Given the description of an element on the screen output the (x, y) to click on. 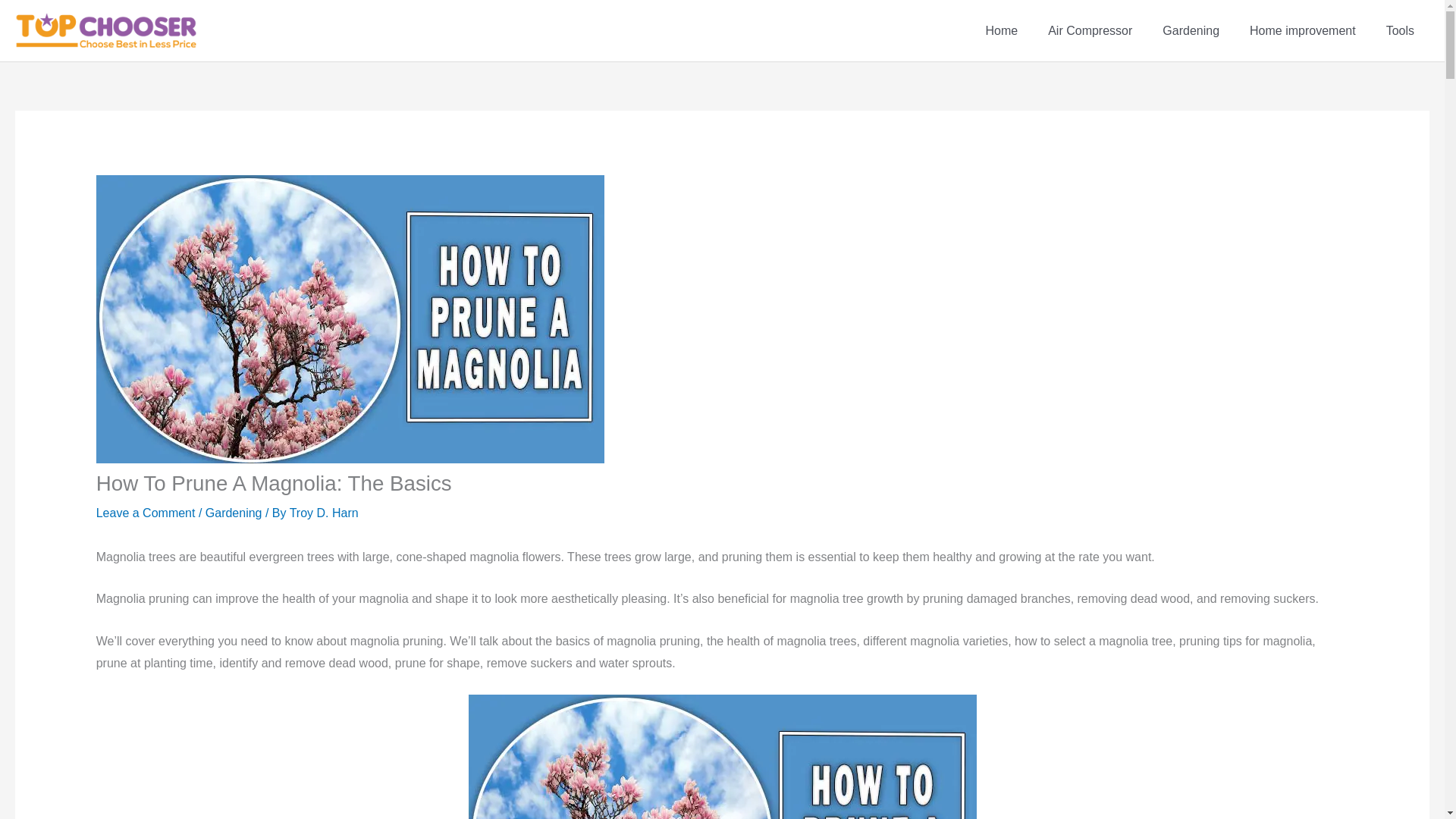
Troy D. Harn (323, 512)
Leave a Comment (145, 512)
Gardening (233, 512)
Tools (1400, 29)
Air Compressor (1089, 29)
View all posts by Troy D. Harn (323, 512)
Home (1000, 29)
Gardening (1190, 29)
Home improvement (1302, 29)
